Given the description of an element on the screen output the (x, y) to click on. 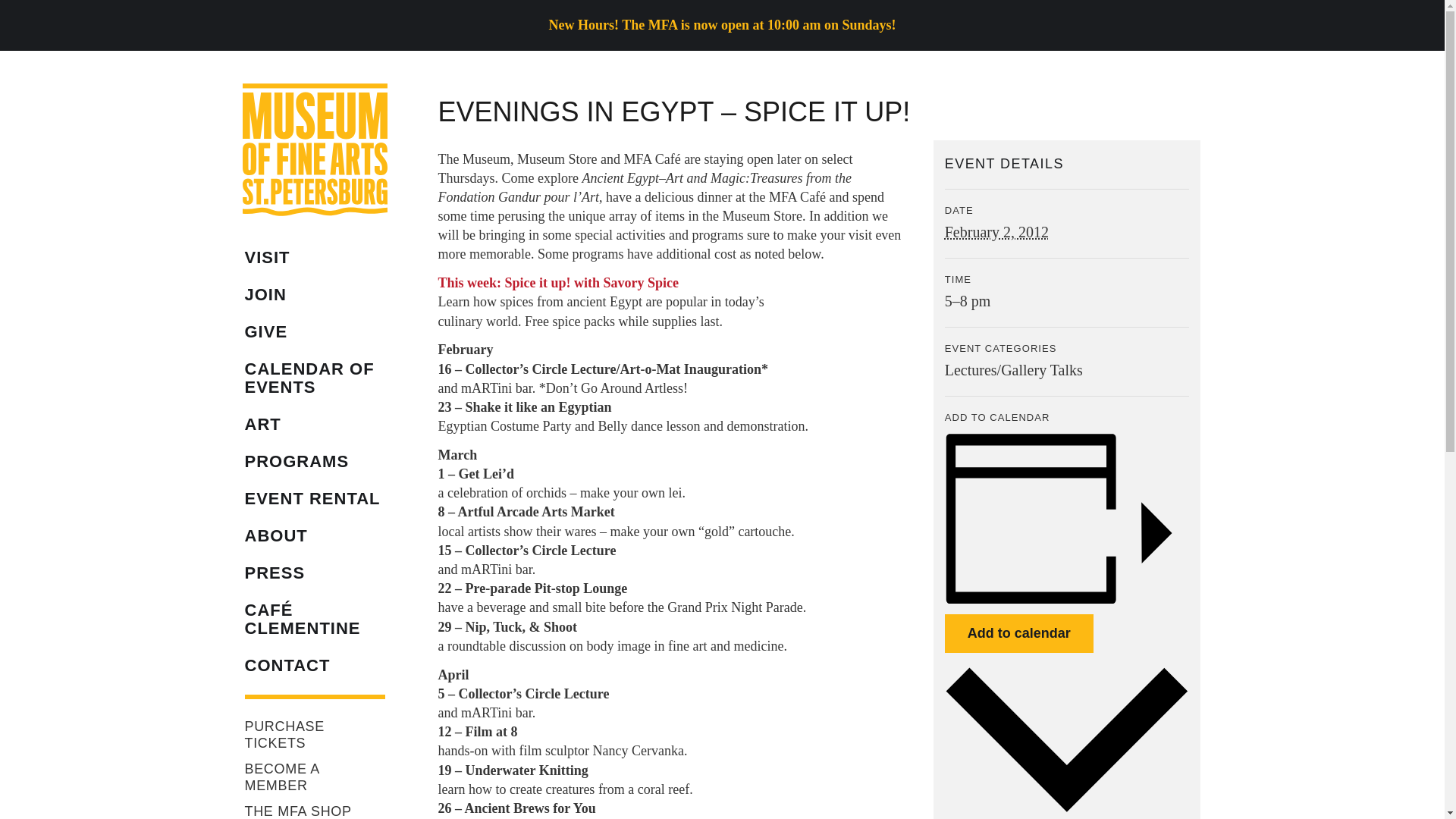
2012-02-02 (1066, 301)
EVENT RENTAL (314, 498)
PROGRAMS (314, 461)
VISIT (314, 257)
GIVE (314, 331)
ABOUT (314, 535)
2012-02-02 (996, 231)
CALENDAR OF EVENTS (314, 377)
JOIN (314, 294)
ART (314, 424)
Museum of Fine Arts, St Petersburg (315, 149)
